Given the description of an element on the screen output the (x, y) to click on. 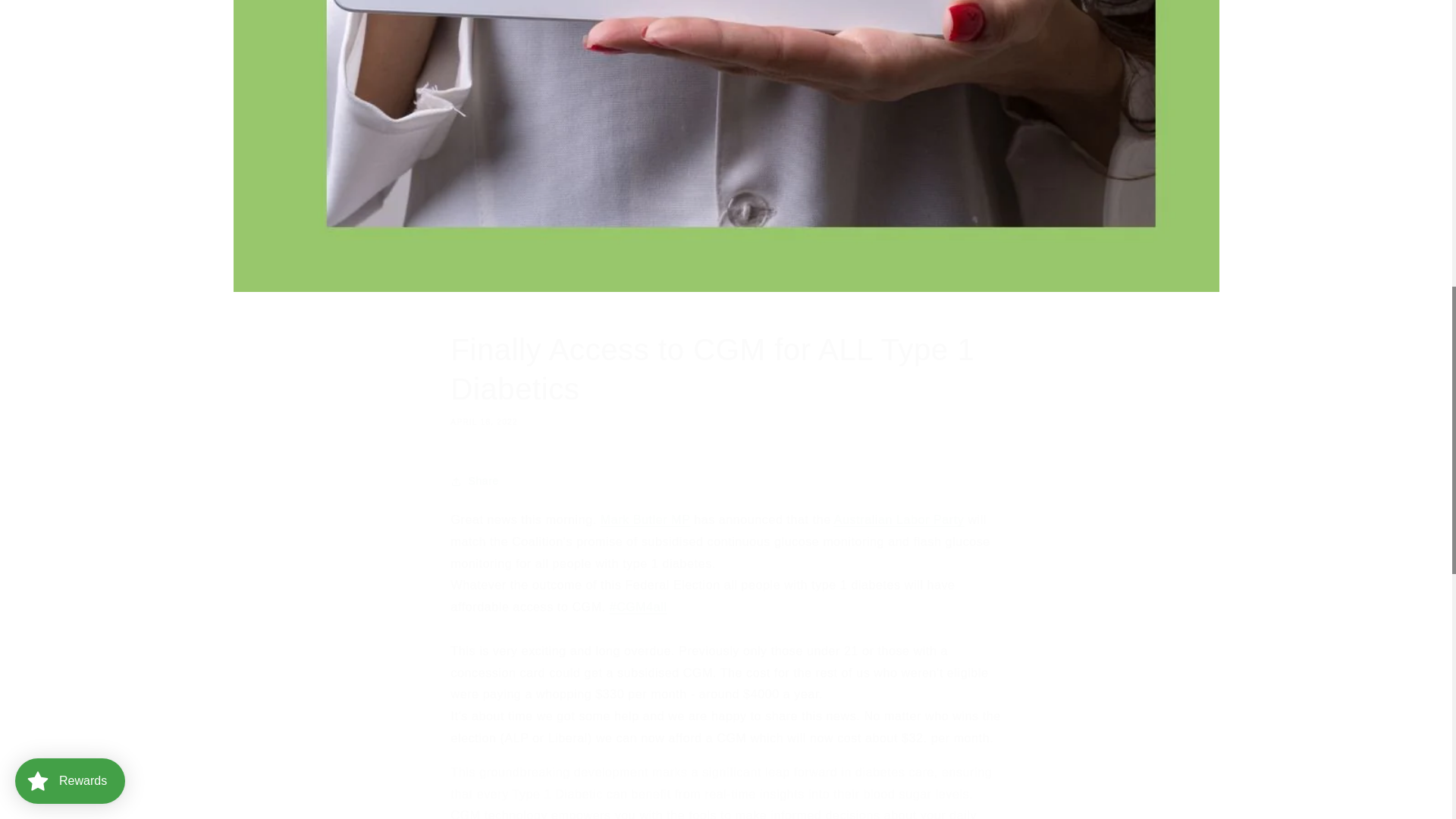
Share (725, 481)
